Given the description of an element on the screen output the (x, y) to click on. 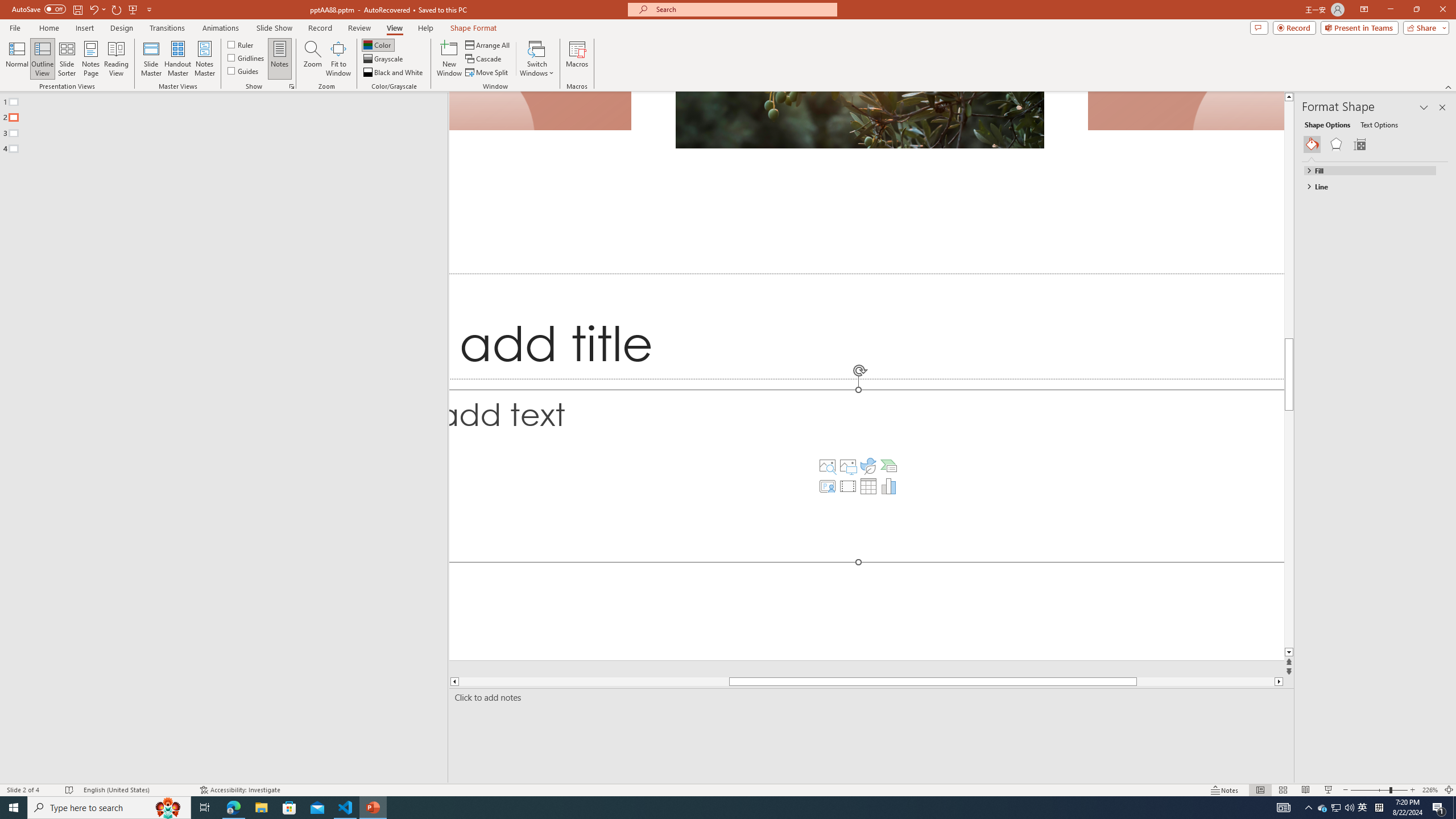
Camera 13, No camera detected. (540, 111)
Switch Windows (537, 58)
Cascade (484, 58)
Shape Options (1327, 124)
Notes (279, 58)
